Given the description of an element on the screen output the (x, y) to click on. 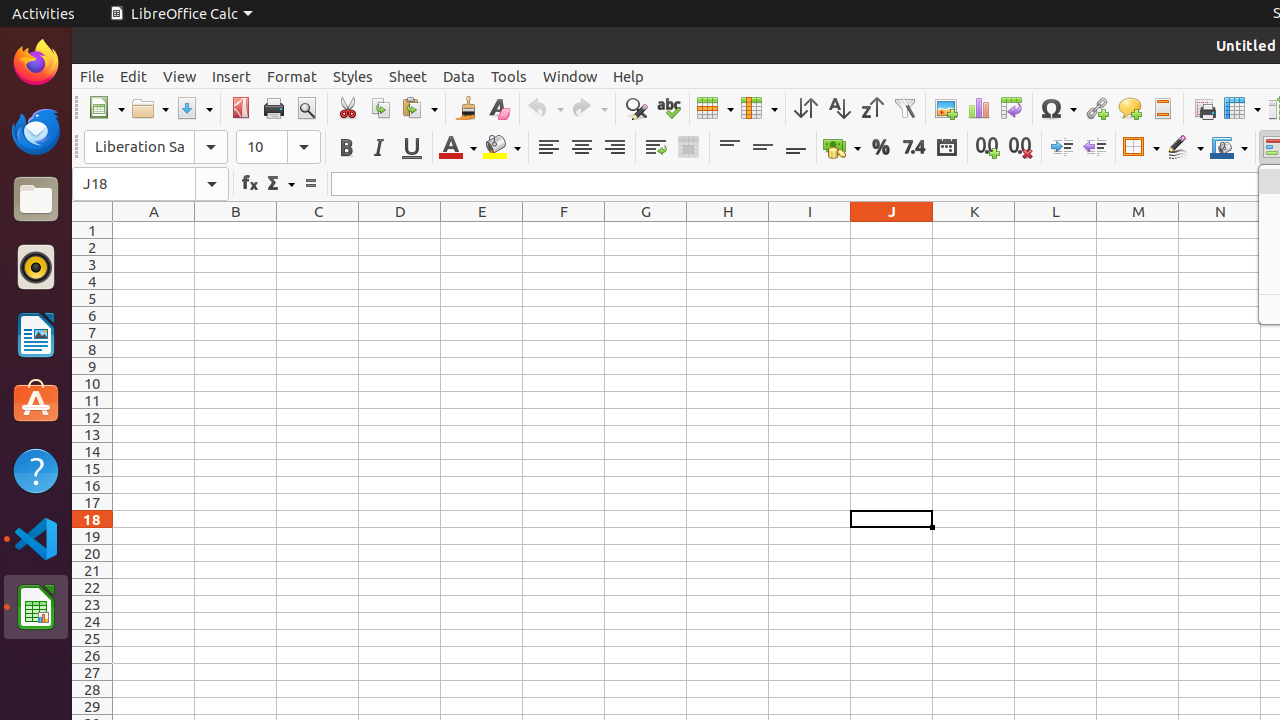
LibreOffice Calc Element type: menu (181, 13)
IsaHelpMain.desktop Element type: label (133, 300)
